Given the description of an element on the screen output the (x, y) to click on. 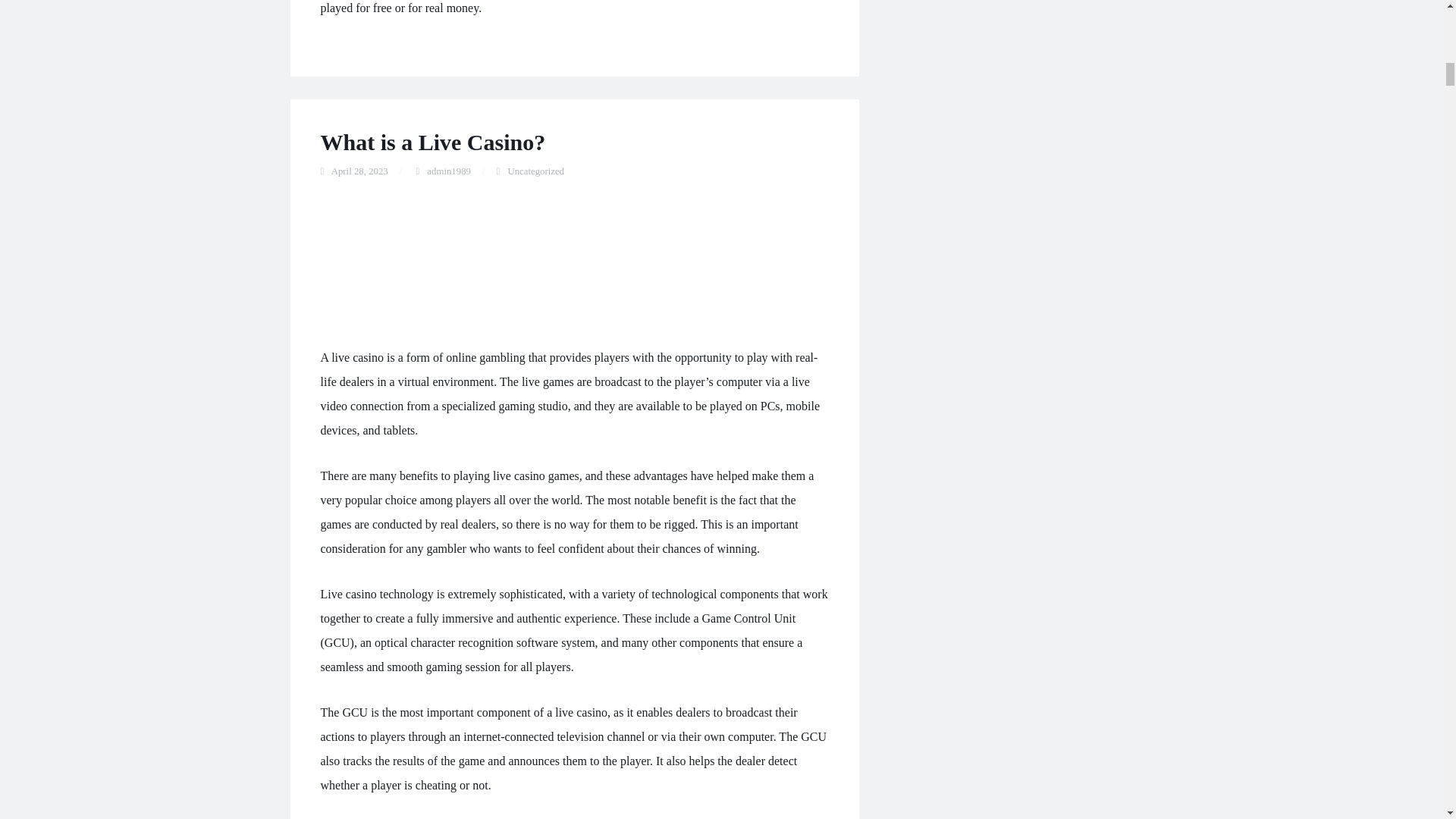
Uncategorized (535, 171)
What is a Live Casino? (432, 141)
April 28, 2023 (359, 171)
admin1989 (448, 171)
